Given the description of an element on the screen output the (x, y) to click on. 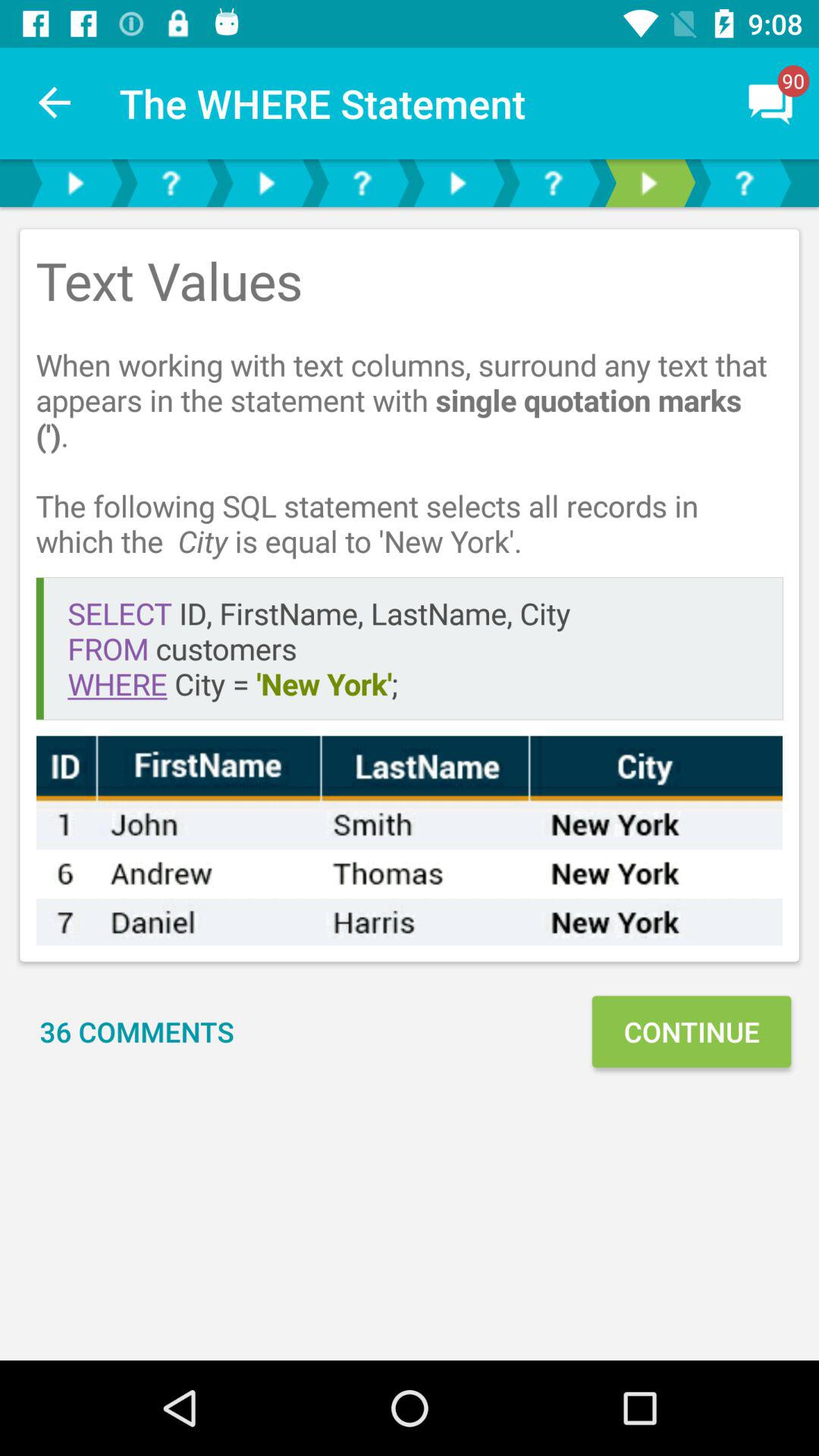
forward option (648, 183)
